Given the description of an element on the screen output the (x, y) to click on. 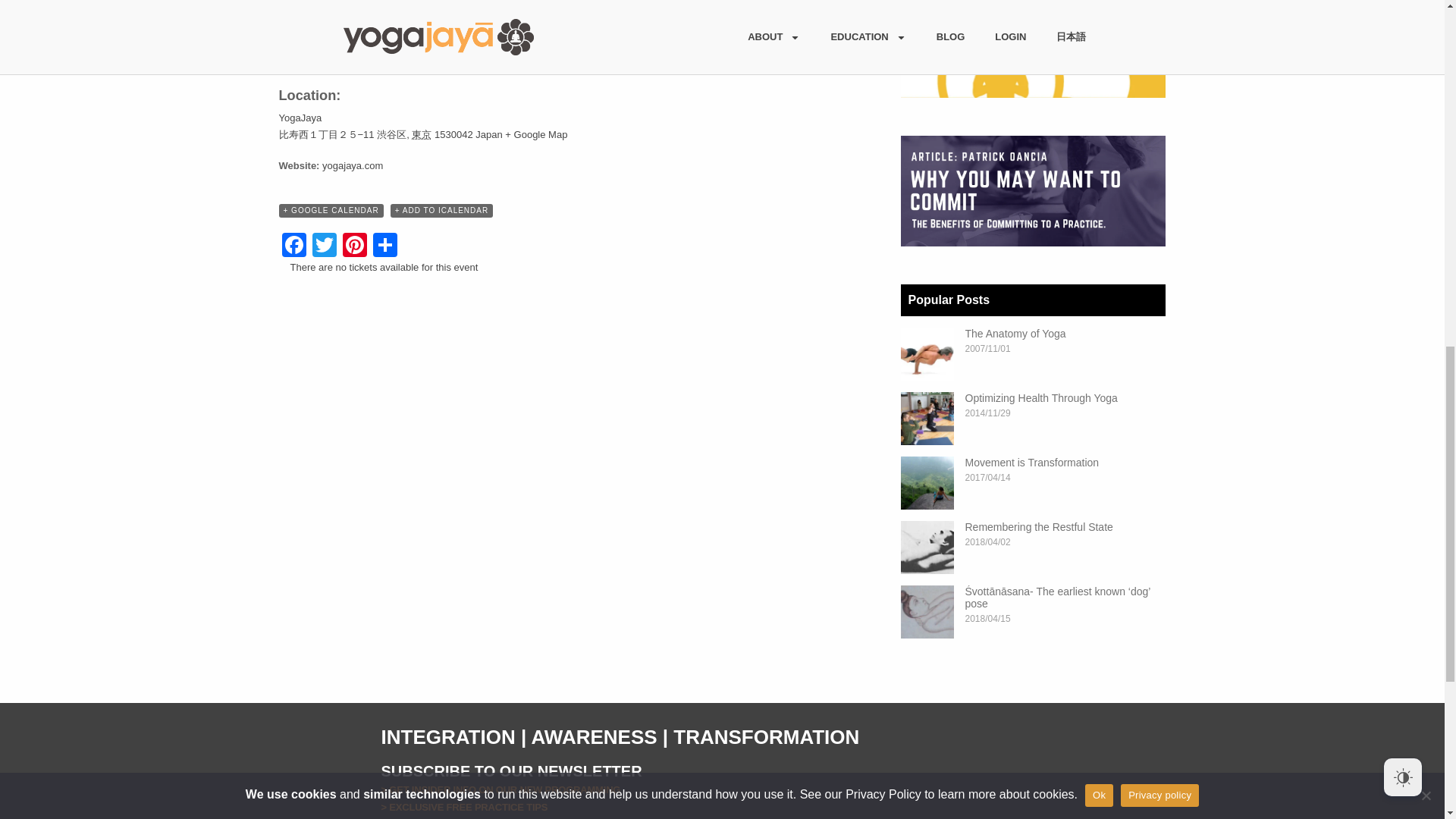
Download .ics file (441, 210)
Twitter (323, 246)
Pinterest (354, 246)
Facebook (293, 246)
Click to view a Google Map (536, 134)
Add to Google Calendar (331, 210)
